Given the description of an element on the screen output the (x, y) to click on. 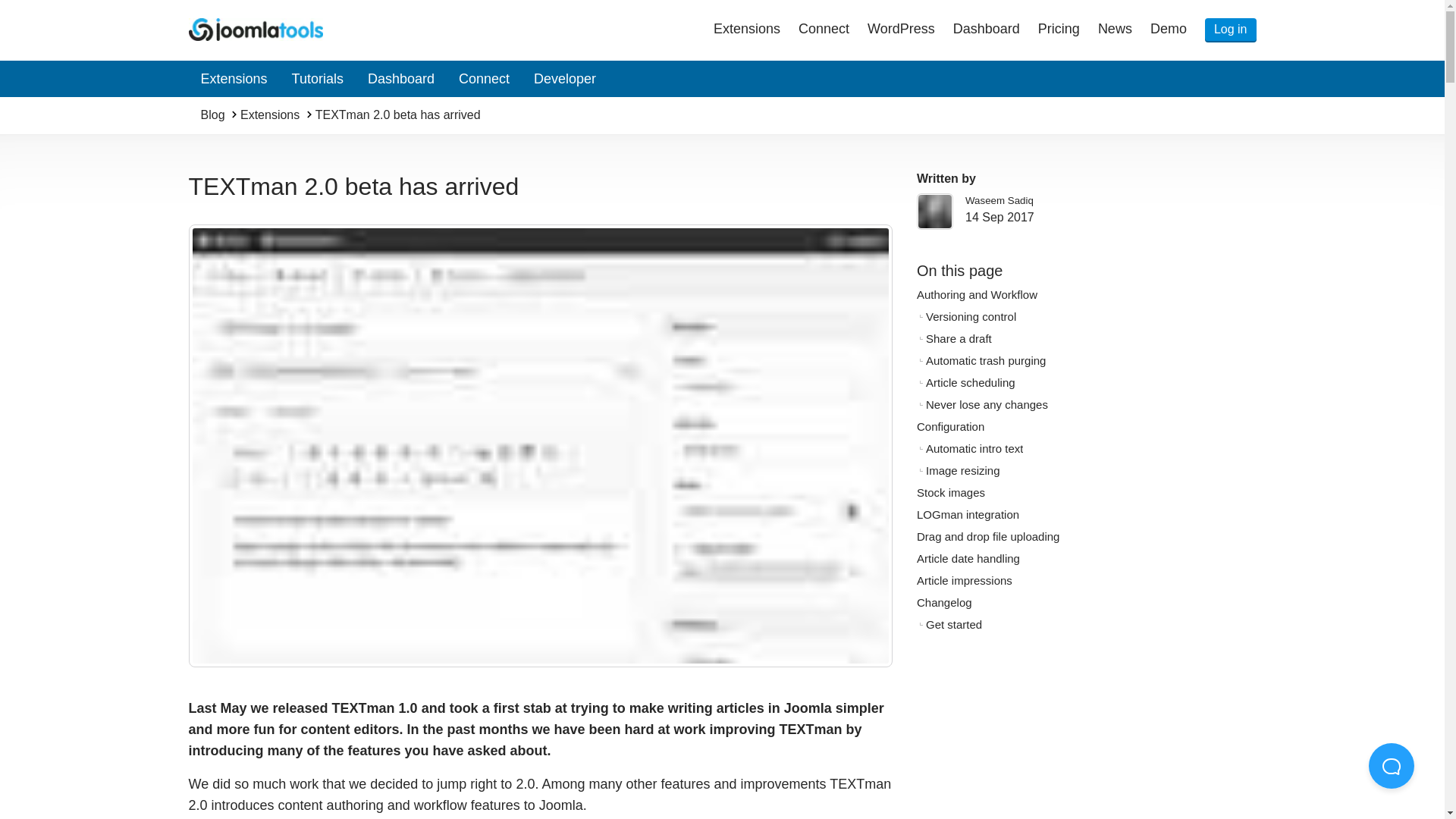
Article date handling (967, 559)
Stock images (949, 493)
Connect (824, 30)
Versioning control (969, 317)
Changelog (943, 603)
WordPress (900, 30)
Extensions (233, 78)
Automatic intro text (973, 449)
Connect (483, 78)
Log in (1230, 29)
Configuration (949, 427)
Tutorials (317, 78)
Share a draft (957, 339)
Drag and drop file uploading (986, 537)
Extensions (746, 30)
